Given the description of an element on the screen output the (x, y) to click on. 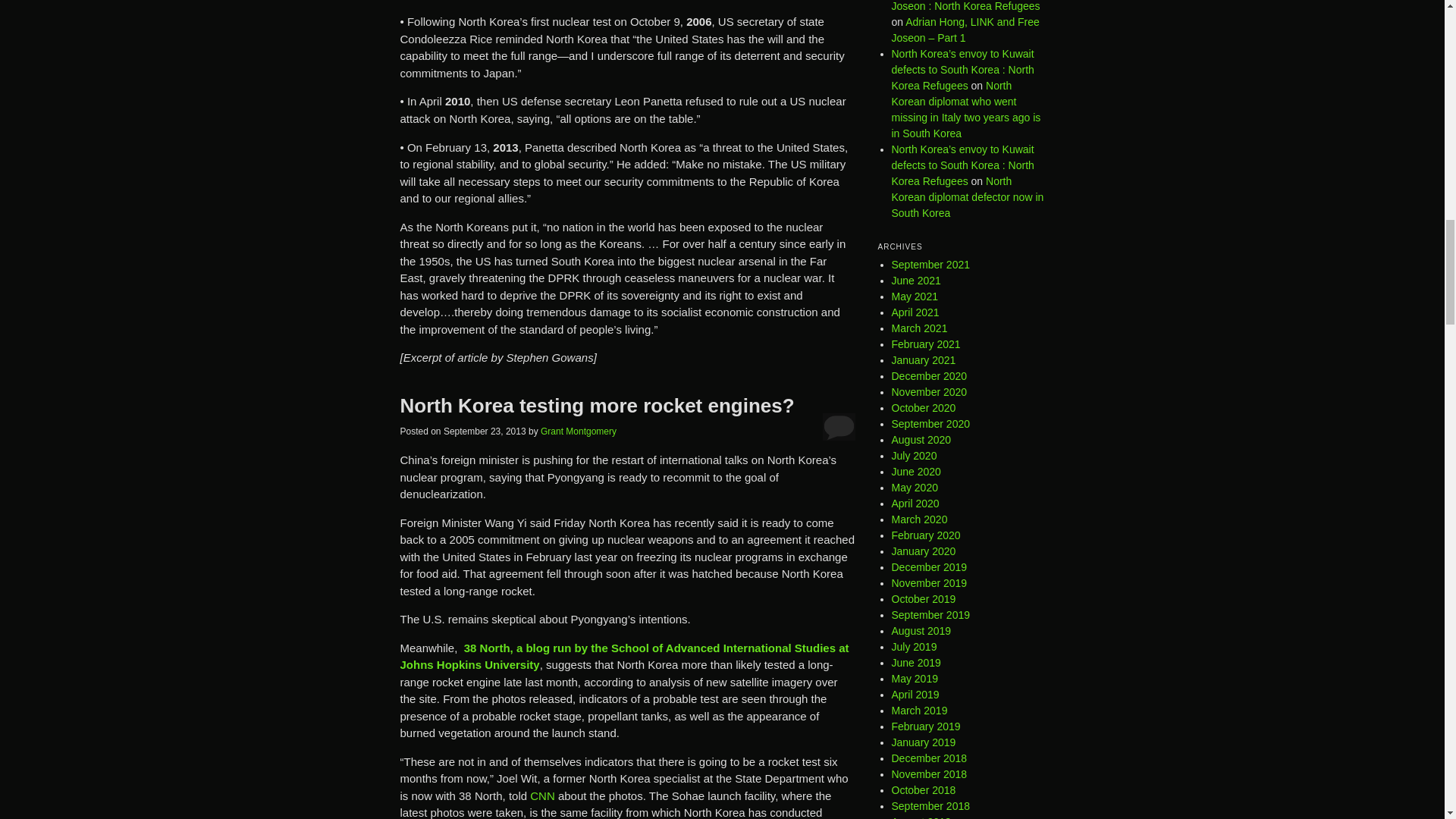
Grant Montgomery (577, 430)
CNN (541, 795)
North Korea testing more rocket engines? (597, 404)
North Korea testing more rocket engines? (597, 404)
Posts by Grant Montgomery (577, 430)
